Given the description of an element on the screen output the (x, y) to click on. 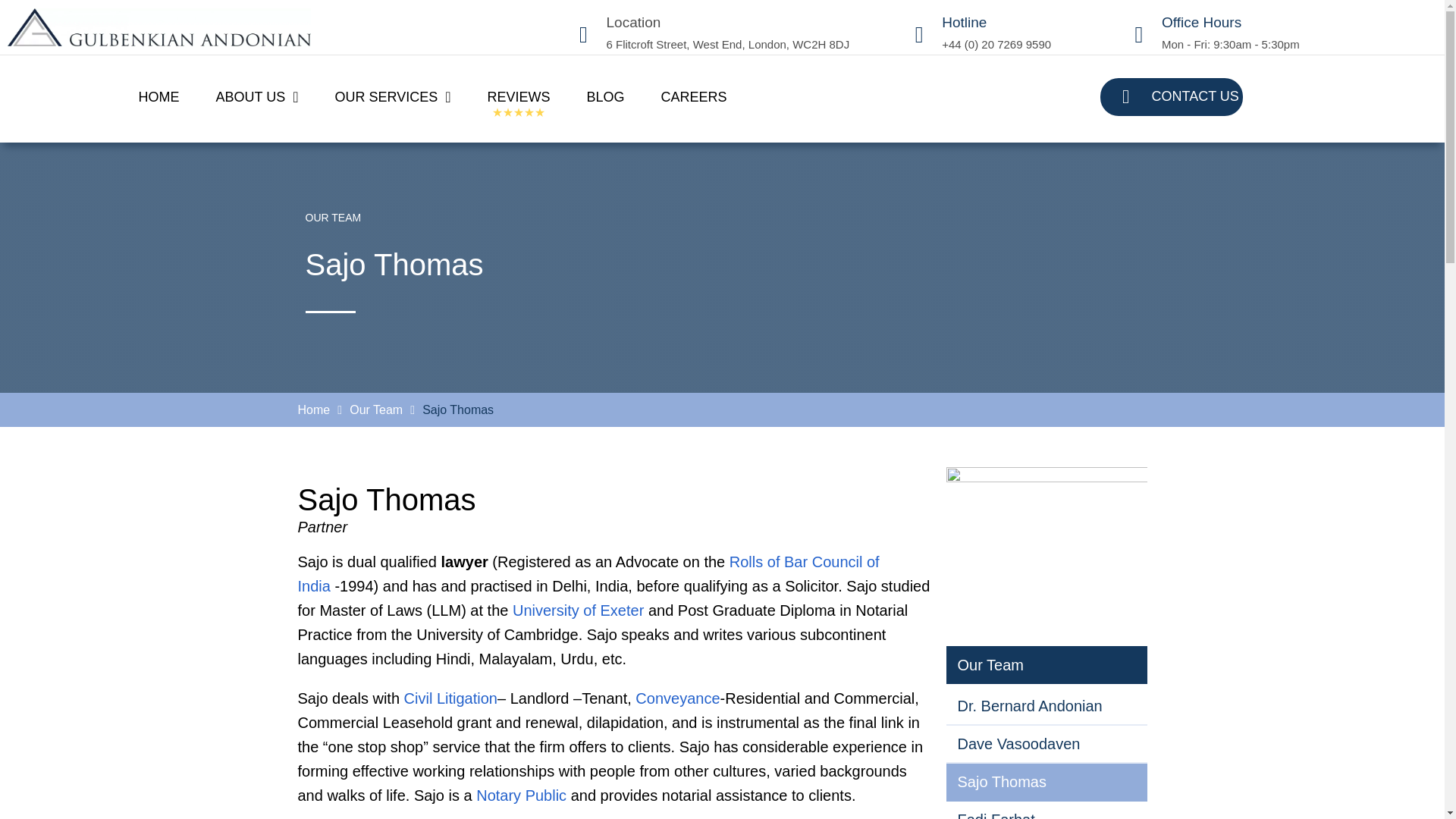
Rolls of Bar Council of India (588, 573)
Our Team (376, 410)
Home (313, 410)
Home (313, 410)
Rolls of Bar Council of India (588, 573)
OUR SERVICES (392, 97)
REVIEWS (518, 97)
Civil Litigation (450, 698)
Conveyance (676, 698)
University of Exeter (577, 610)
Location (634, 22)
Our Team (376, 410)
ABOUT US (256, 97)
Notary Public (521, 795)
Civil Litigation (450, 698)
